Given the description of an element on the screen output the (x, y) to click on. 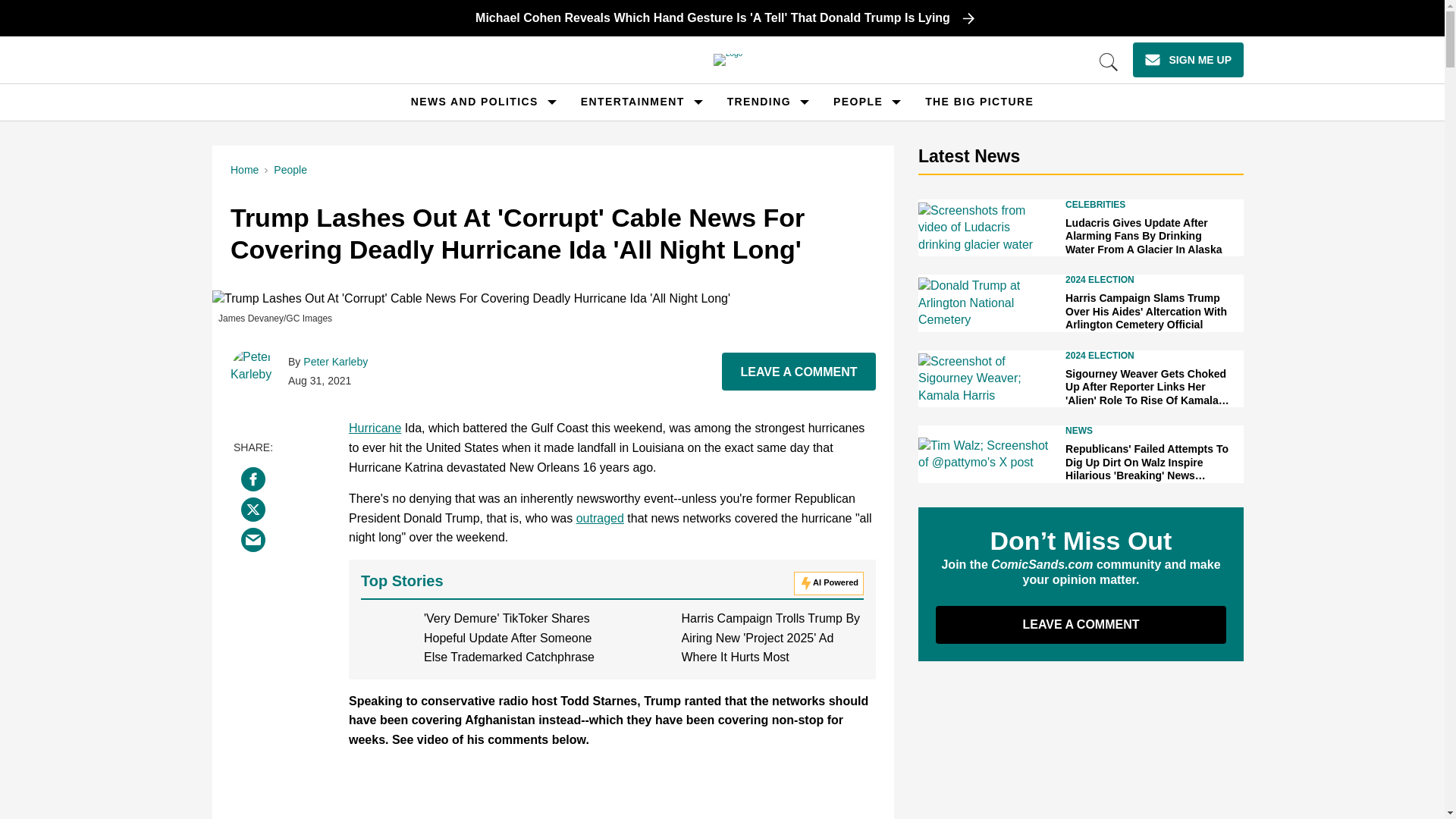
SIGN ME UP (1187, 59)
Open Search (1108, 61)
Open Search (1108, 61)
NEWS AND POLITICS (474, 101)
